Given the description of an element on the screen output the (x, y) to click on. 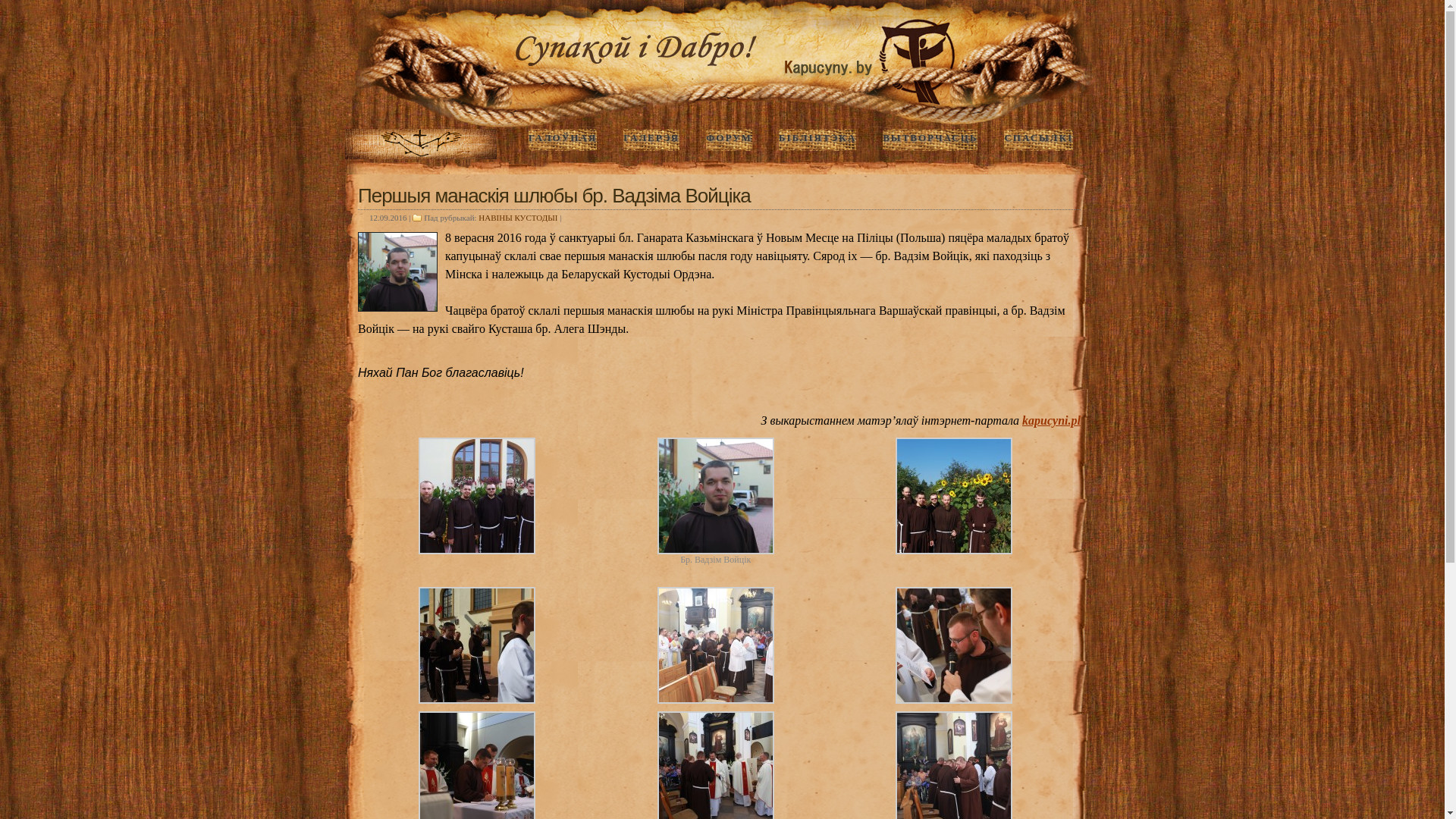
kapucyni.pl Element type: text (1051, 420)
